Given the description of an element on the screen output the (x, y) to click on. 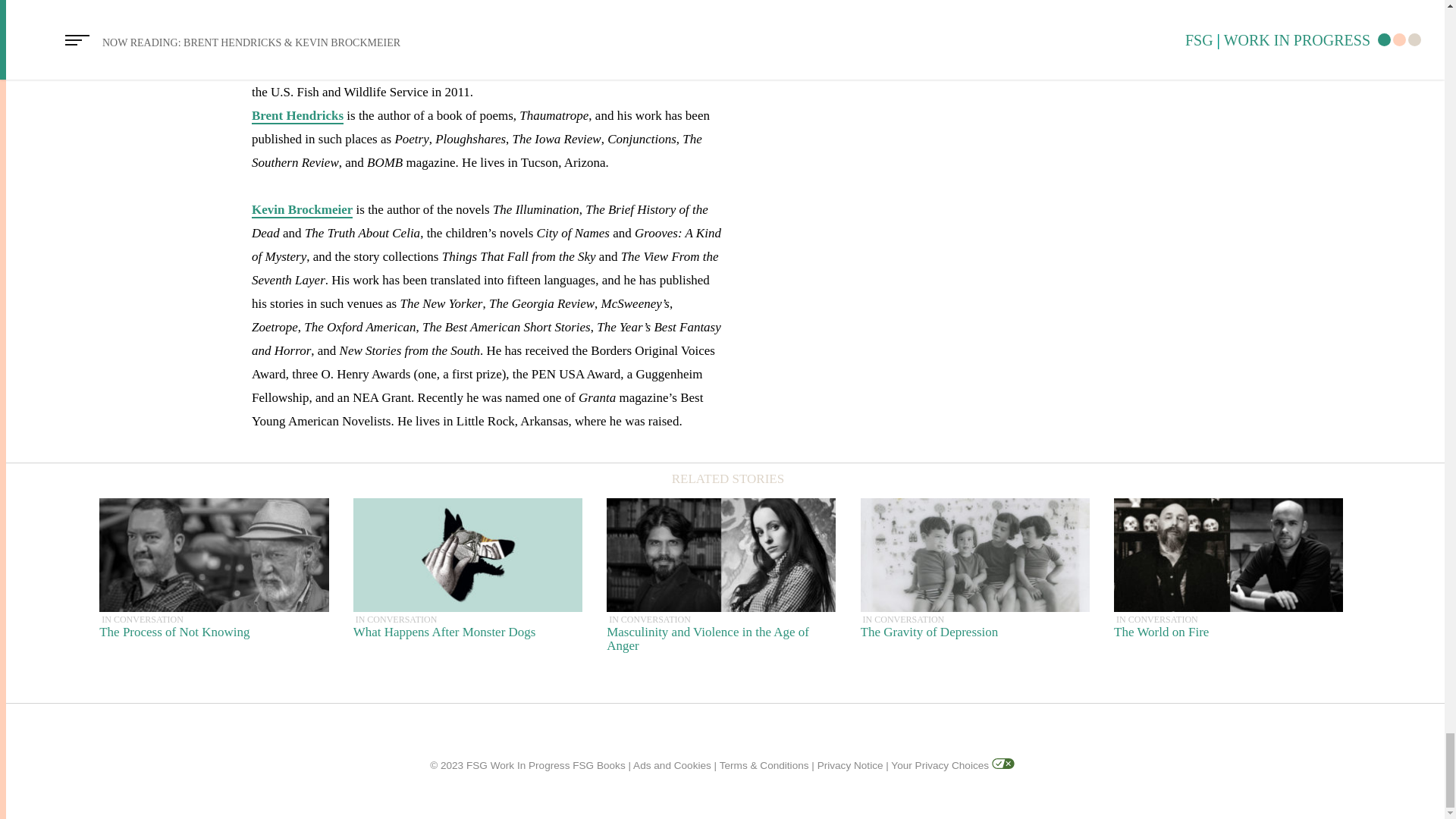
Privacy Notice (1227, 574)
Brent Hendricks (849, 765)
FSG Books (297, 116)
Your Privacy Choices (974, 574)
Kevin Brockmeier (599, 765)
